Given the description of an element on the screen output the (x, y) to click on. 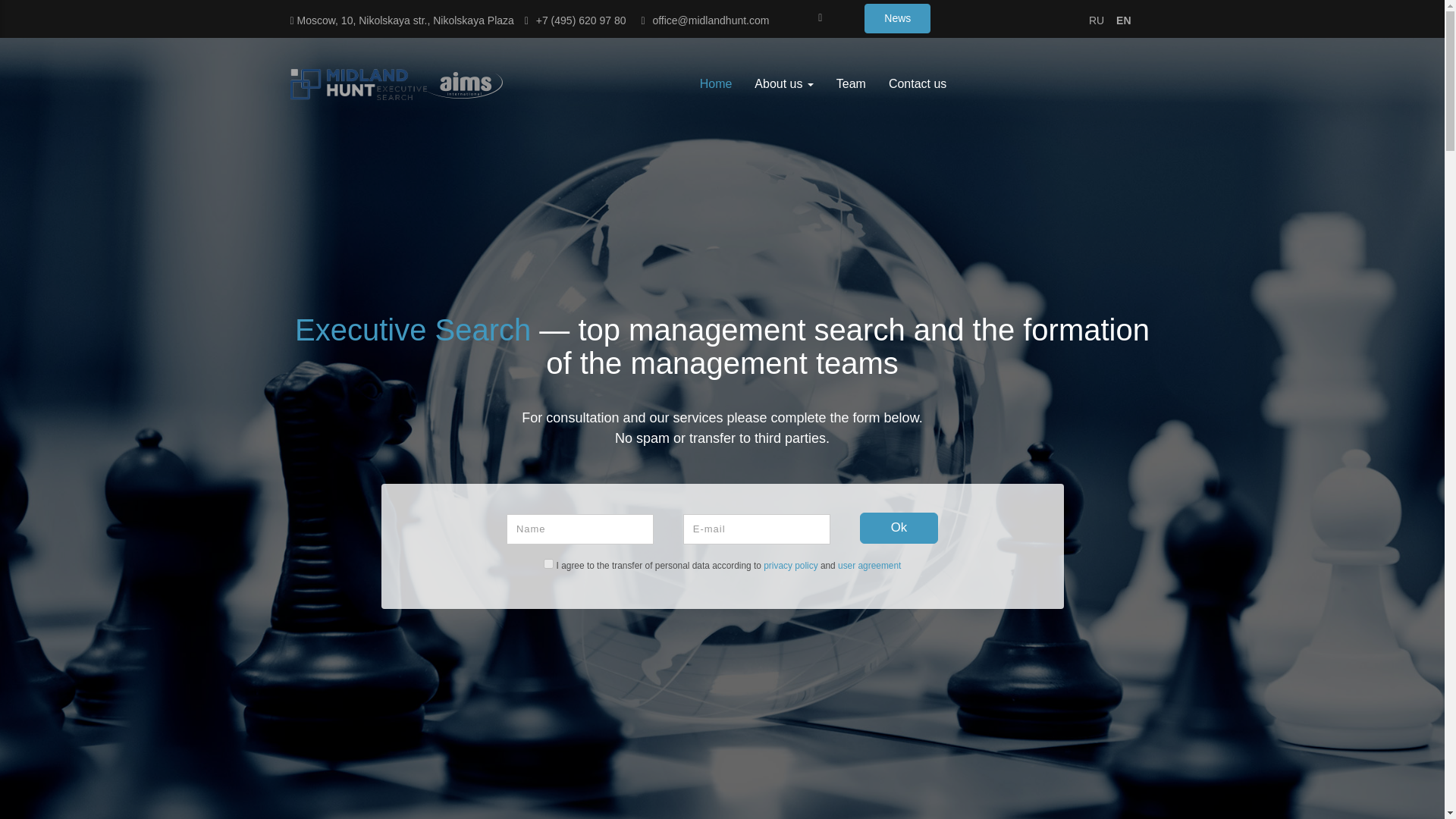
Contact us (917, 84)
RU (1096, 20)
Ok (898, 527)
user agreement (869, 565)
Team (851, 84)
News (897, 18)
privacy policy (789, 565)
About us (783, 84)
1 (548, 563)
Home (716, 84)
